Given the description of an element on the screen output the (x, y) to click on. 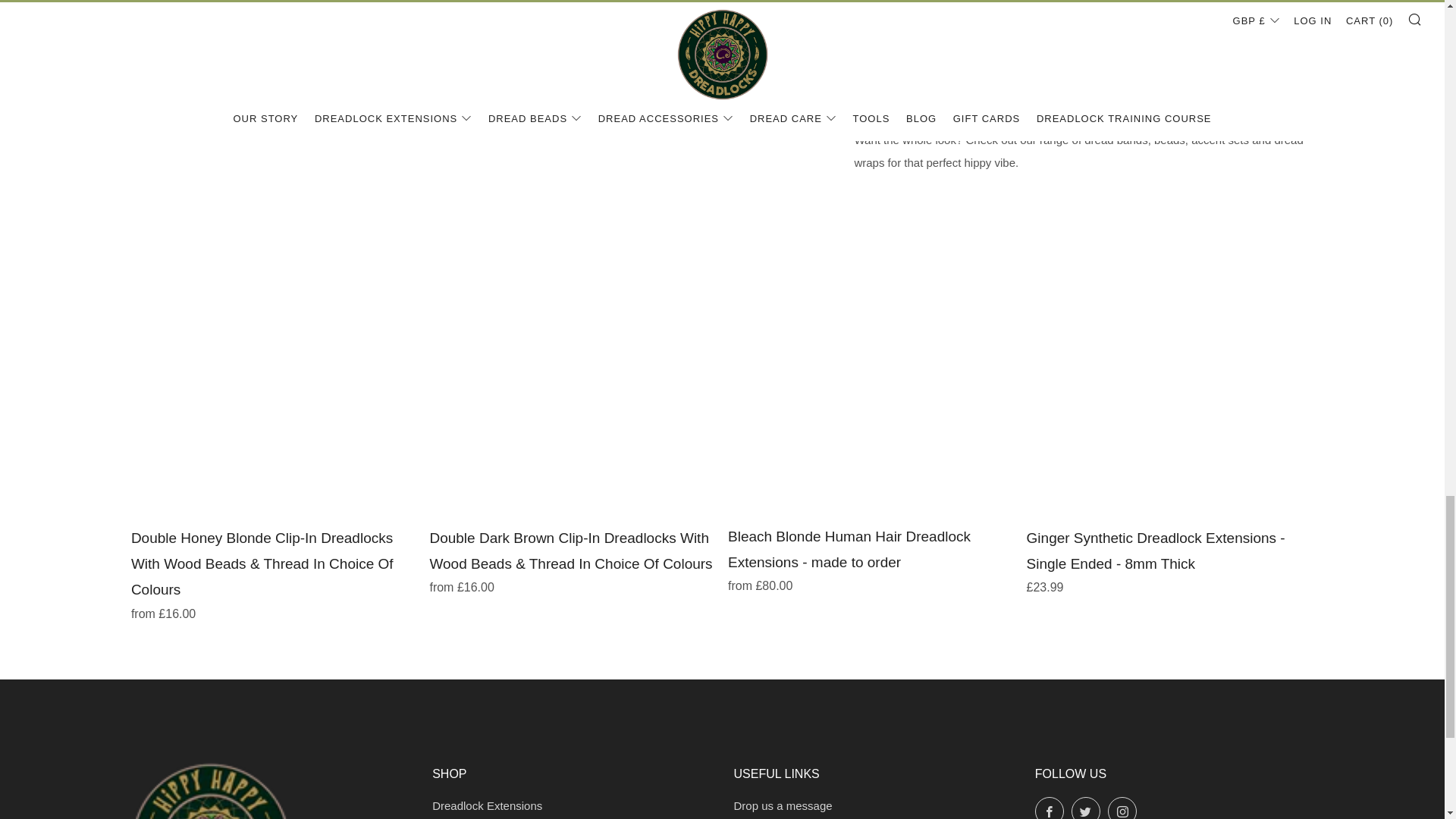
Synthetic Dreadlocks (1125, 82)
